Given the description of an element on the screen output the (x, y) to click on. 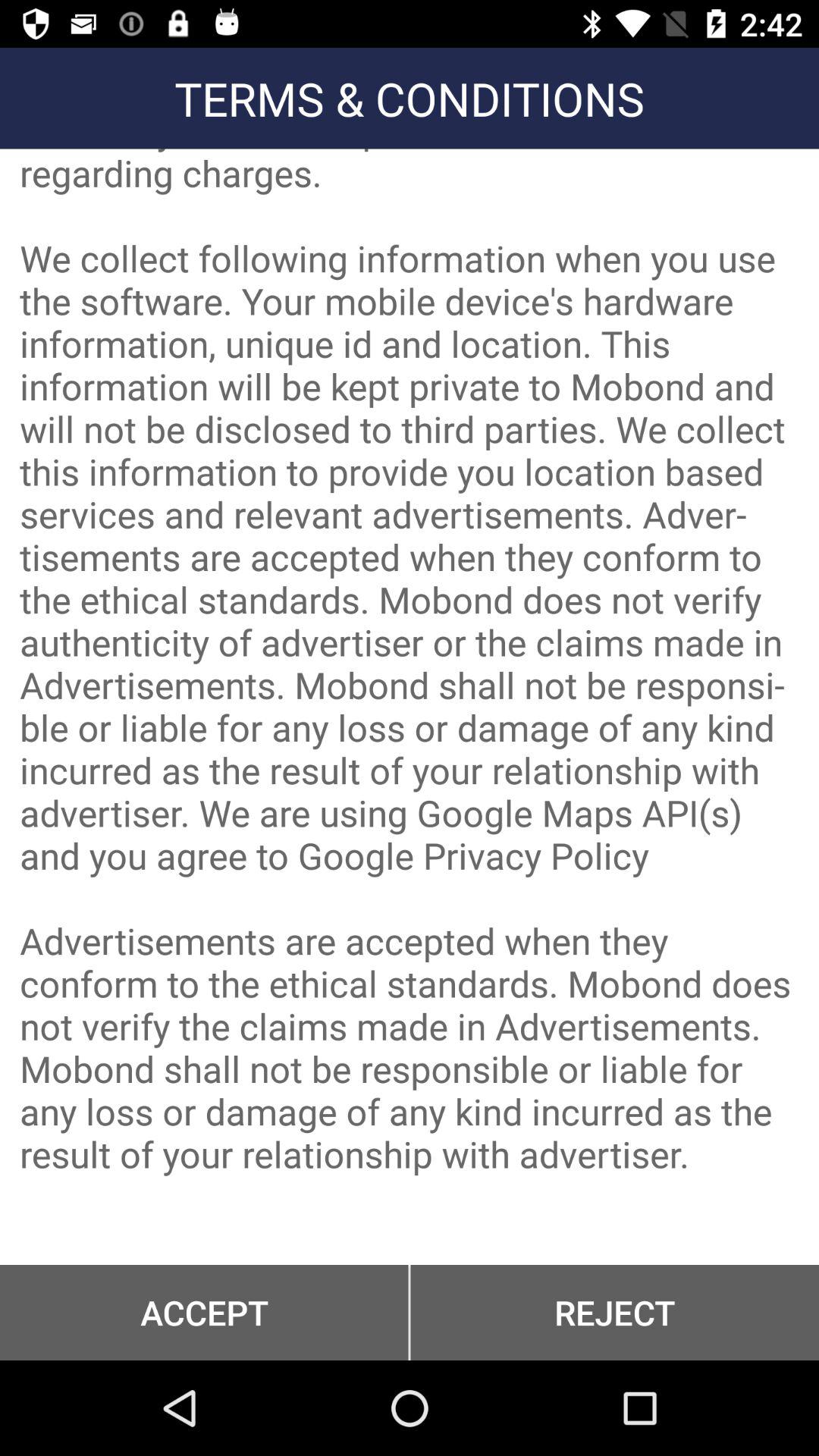
turn off the app below please read these app (614, 1312)
